Given the description of an element on the screen output the (x, y) to click on. 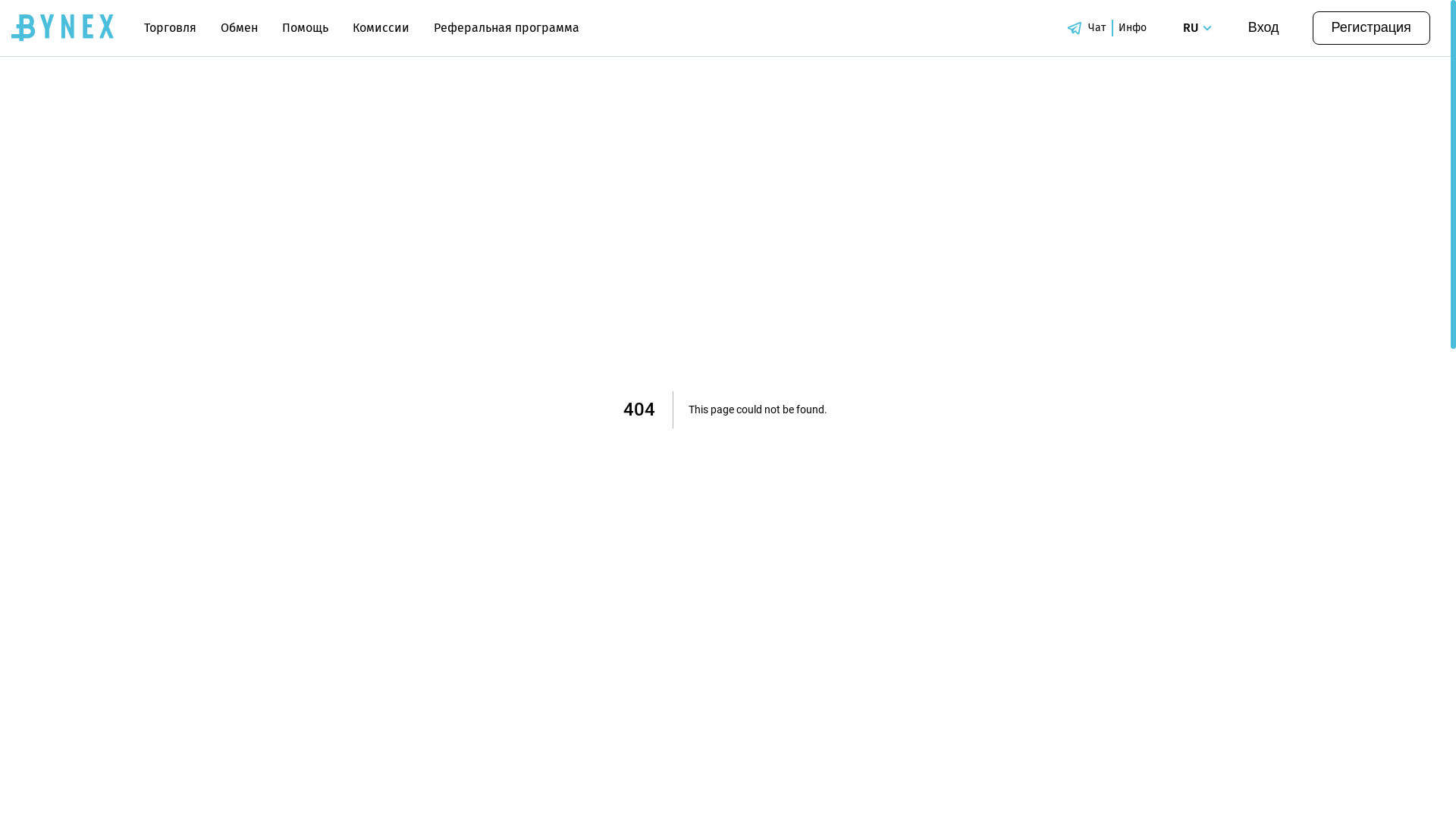
RU Element type: text (1198, 27)
